Given the description of an element on the screen output the (x, y) to click on. 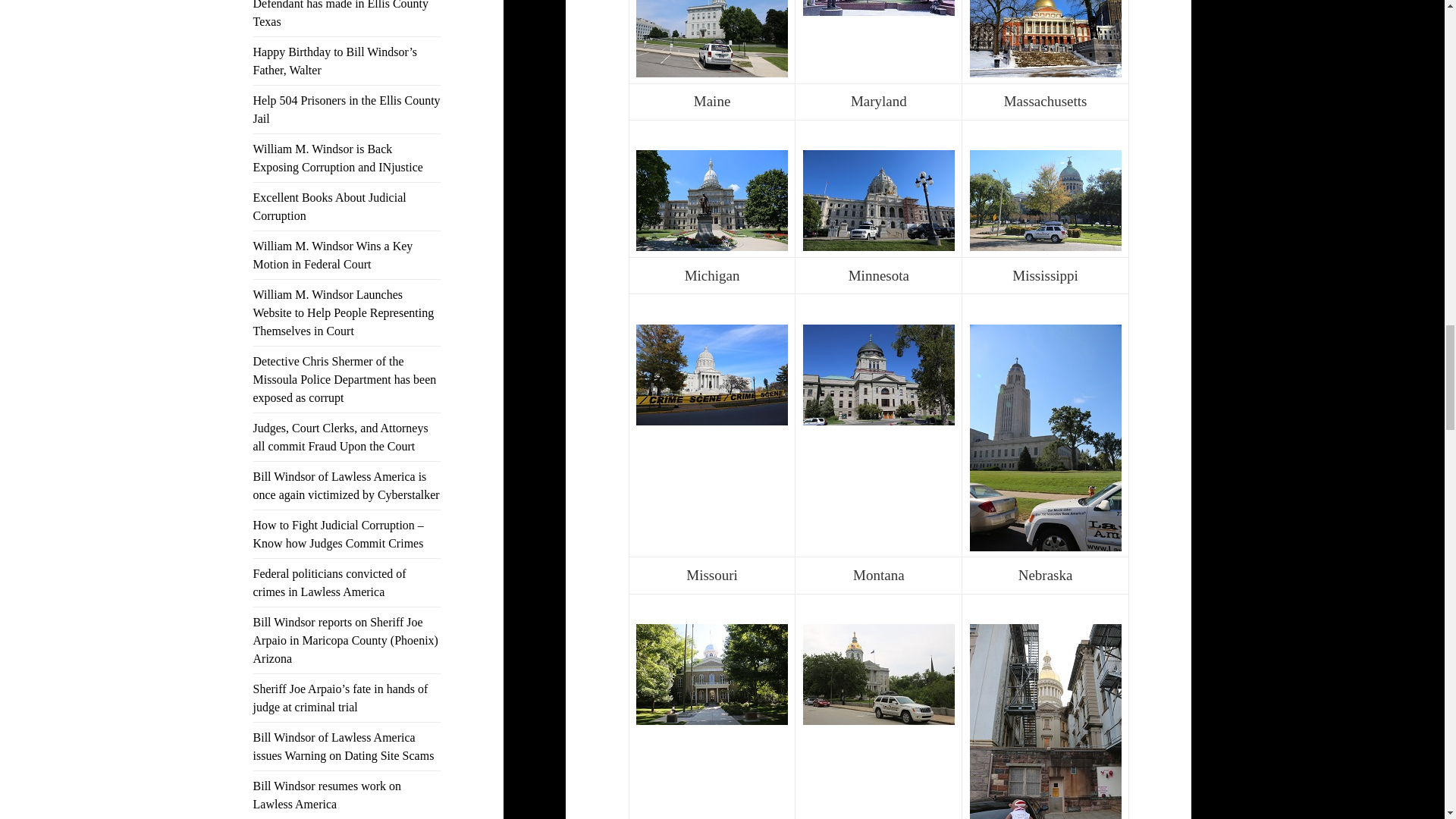
Help 504 Prisoners in the Ellis County Jail (347, 109)
William M. Windsor is Back Exposing Corruption and INjustice (338, 157)
